Given the description of an element on the screen output the (x, y) to click on. 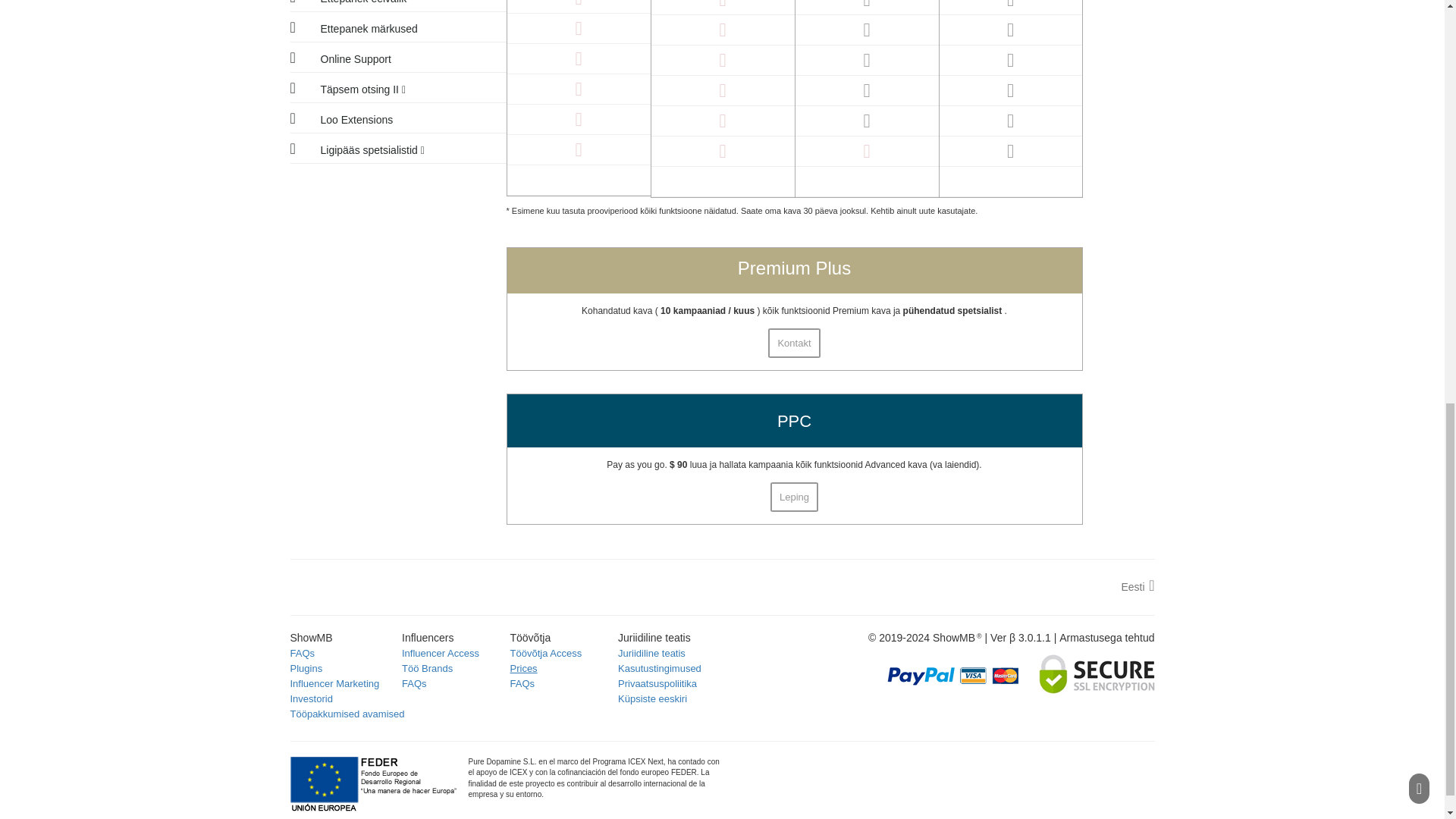
Eesti  (1137, 585)
Kontakt (793, 342)
Leping (794, 496)
